Given the description of an element on the screen output the (x, y) to click on. 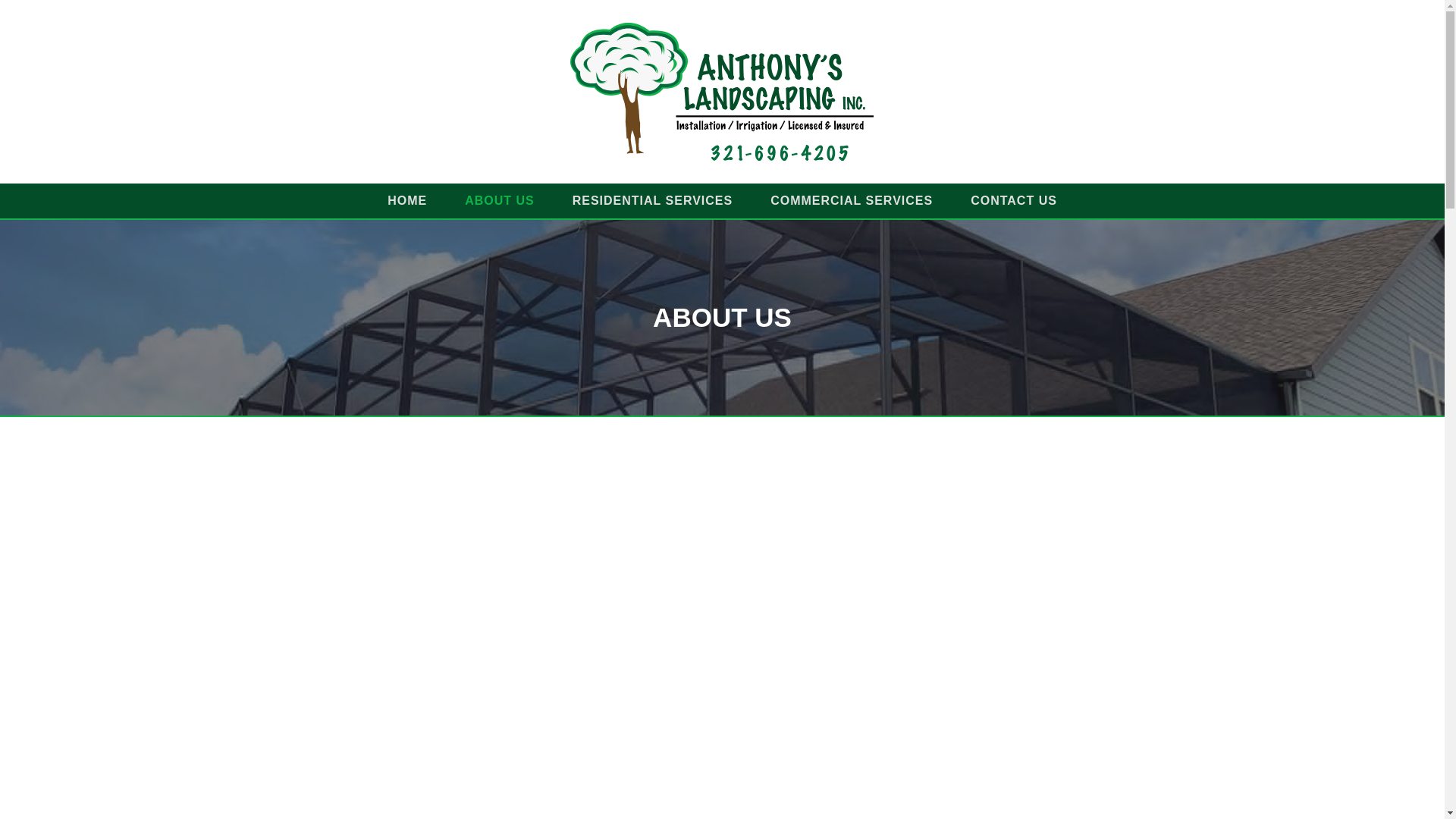
CONTACT US (1013, 200)
COMMERCIAL SERVICES (851, 200)
RESIDENTIAL SERVICES (652, 200)
HOME (406, 200)
ABOUT US (499, 200)
